Given the description of an element on the screen output the (x, y) to click on. 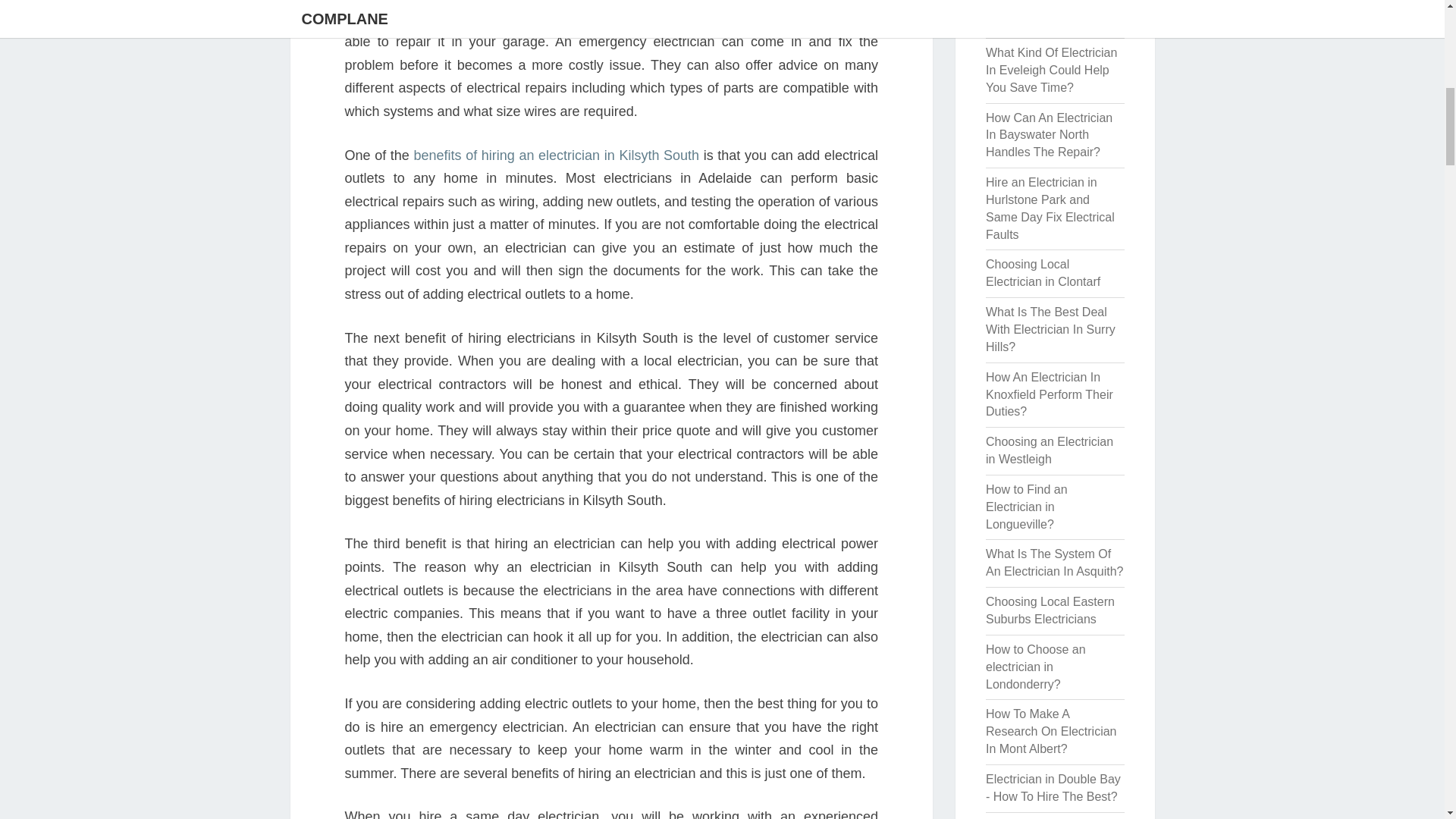
Choosing Local Electrician in Clontarf (1042, 272)
What Is The System Of An Electrician In Asquith? (1053, 562)
Electrician in Double Bay - How To Hire The Best? (1053, 788)
Choosing an Electrician in Westleigh (1049, 450)
What Is The Best Deal With Electrician In Surry Hills? (1050, 328)
Choosing Local Eastern Suburbs Electricians (1050, 610)
How to Find an Electrician in Longueville? (1026, 506)
How To Make A Research On Electrician In Mont Albert? (1050, 731)
How An Electrician In Knoxfield Perform Their Duties? (1049, 394)
benefits of hiring an electrician in Kilsyth South (555, 154)
How to Choose an electrician in Londonderry? (1035, 666)
